Given the description of an element on the screen output the (x, y) to click on. 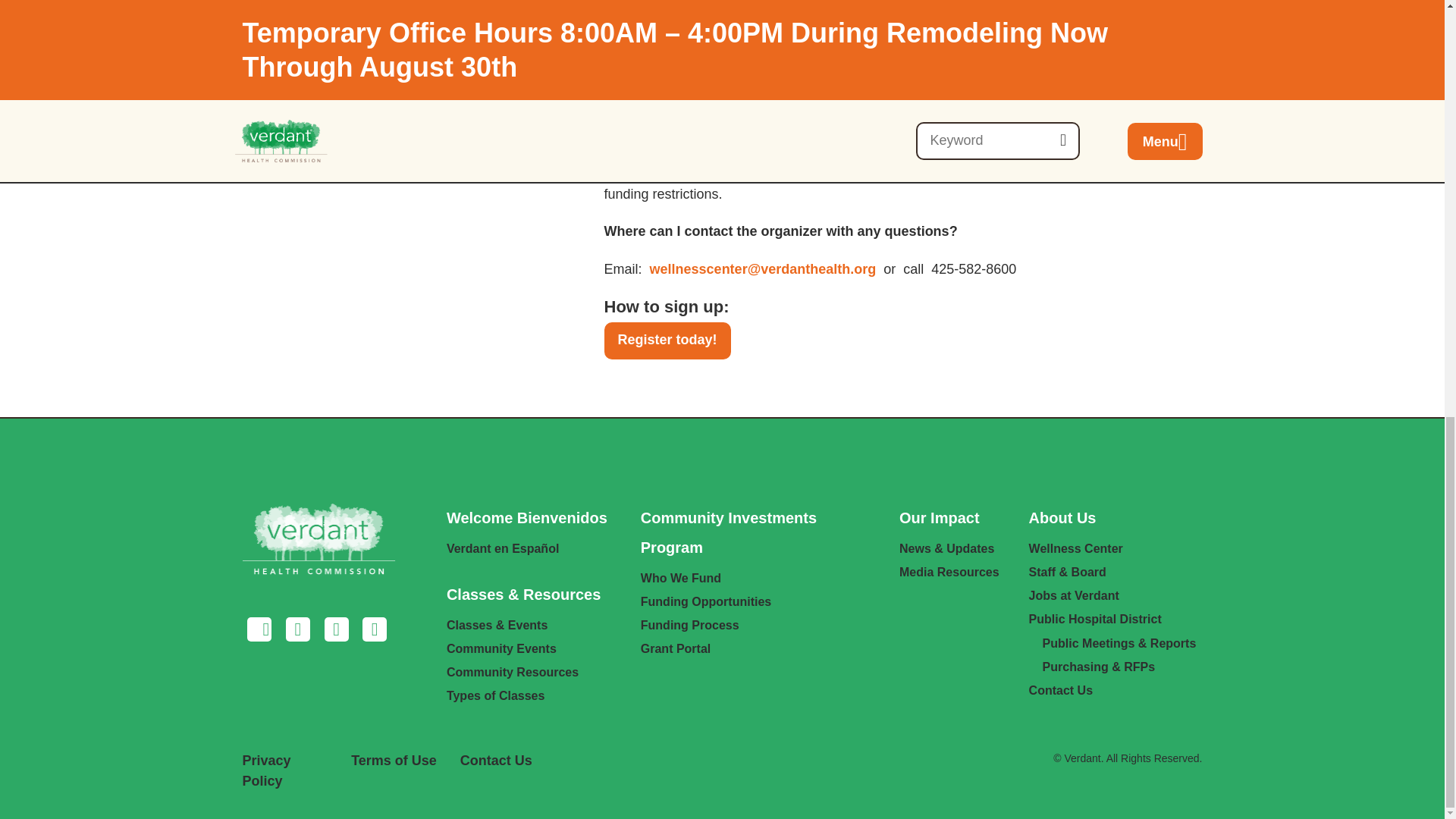
Twitter link (335, 630)
Register today! (667, 340)
Register today! (667, 340)
Facebook link (260, 630)
Instagram link (298, 630)
YouTube link (373, 630)
Welcome Bienvenidos (526, 518)
